Given the description of an element on the screen output the (x, y) to click on. 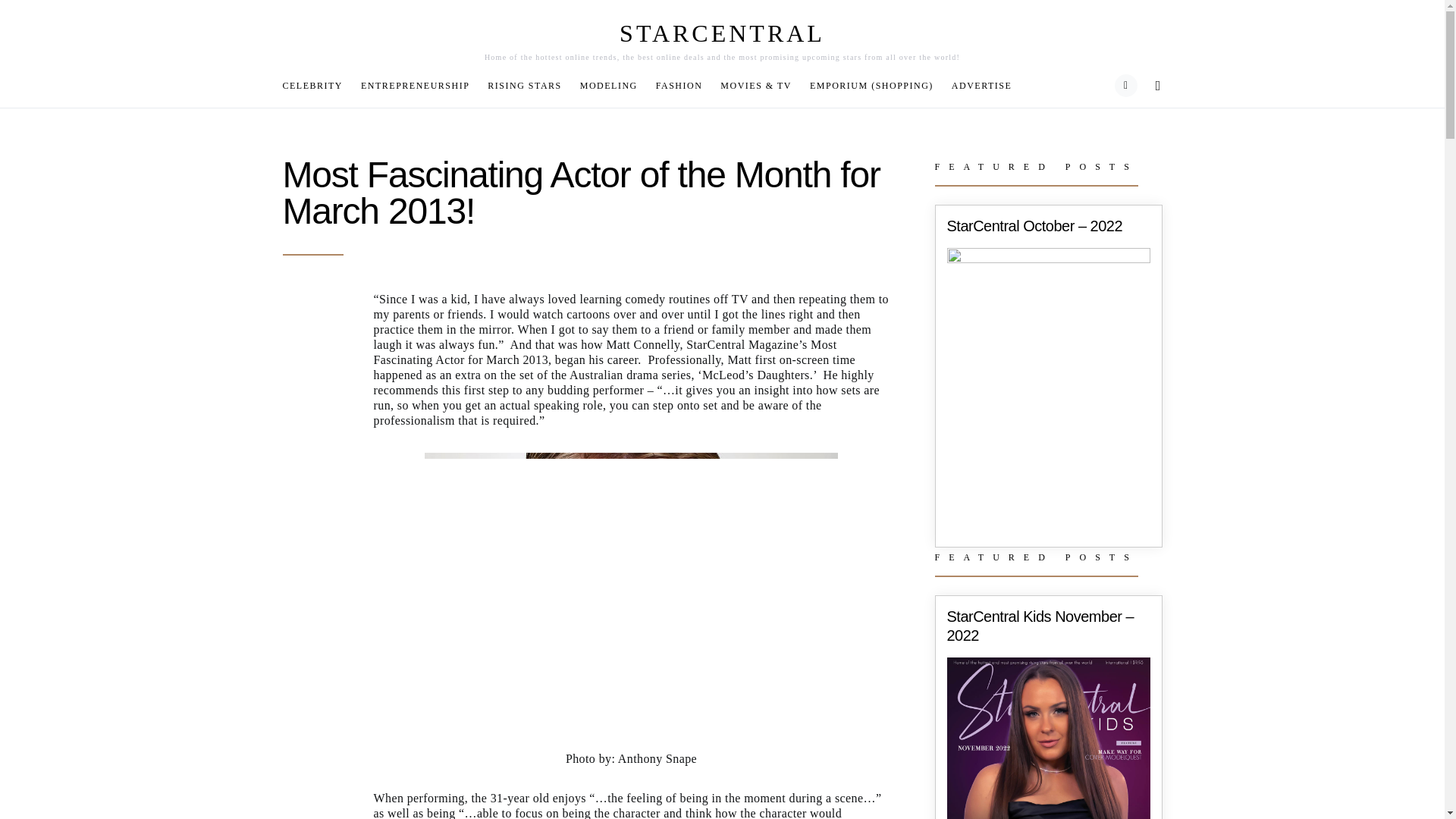
RISING STARS (524, 84)
View your shopping cart (1126, 85)
MODELING (608, 84)
ENTREPRENEURSHIP (415, 84)
FASHION (678, 84)
STARCENTRAL (721, 33)
ADVERTISE (976, 84)
CELEBRITY (317, 84)
